Given the description of an element on the screen output the (x, y) to click on. 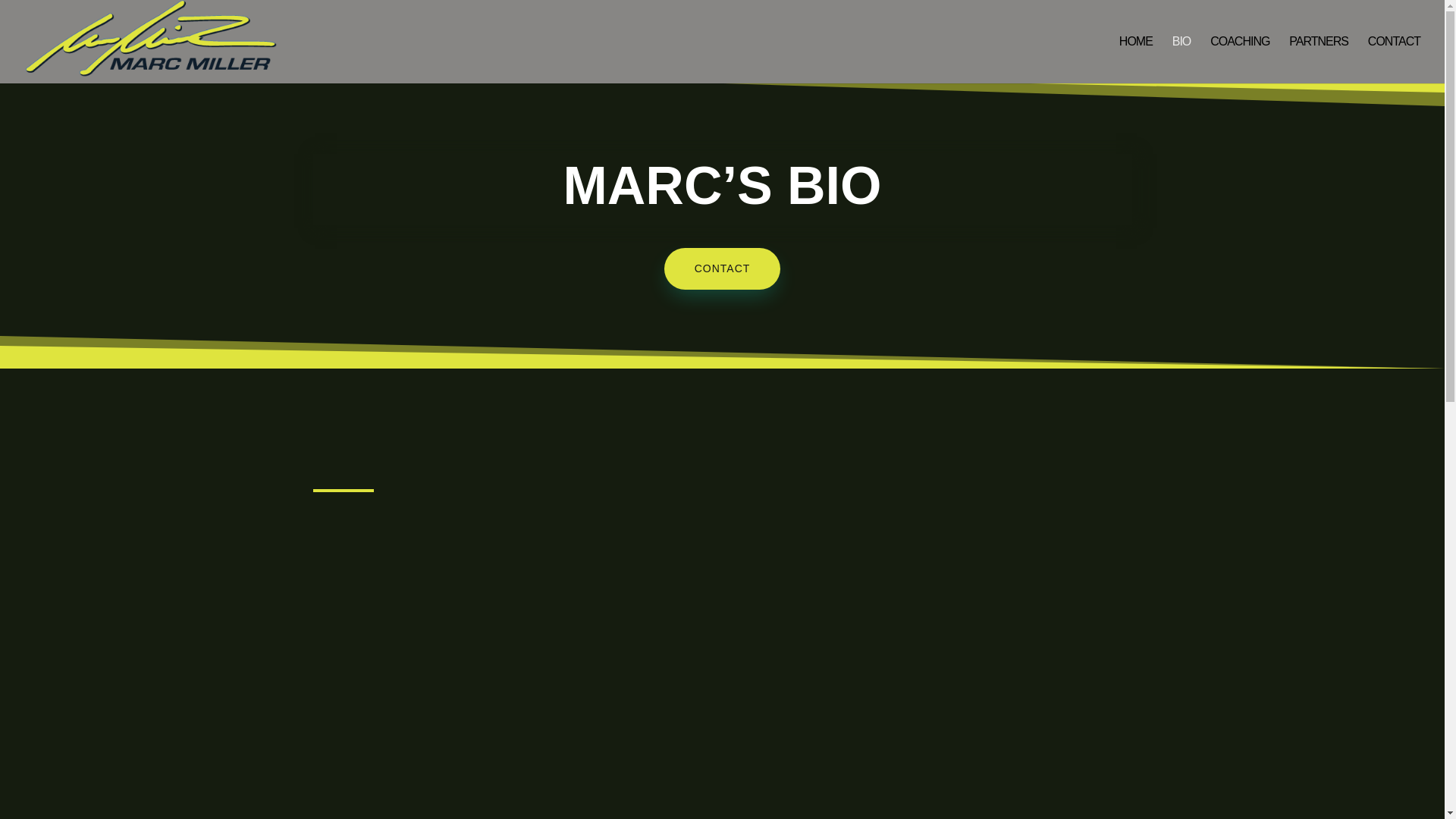
COACHING (1239, 59)
PARTNERS (1318, 59)
CONTACT (1394, 59)
CONTACT (721, 269)
